Given the description of an element on the screen output the (x, y) to click on. 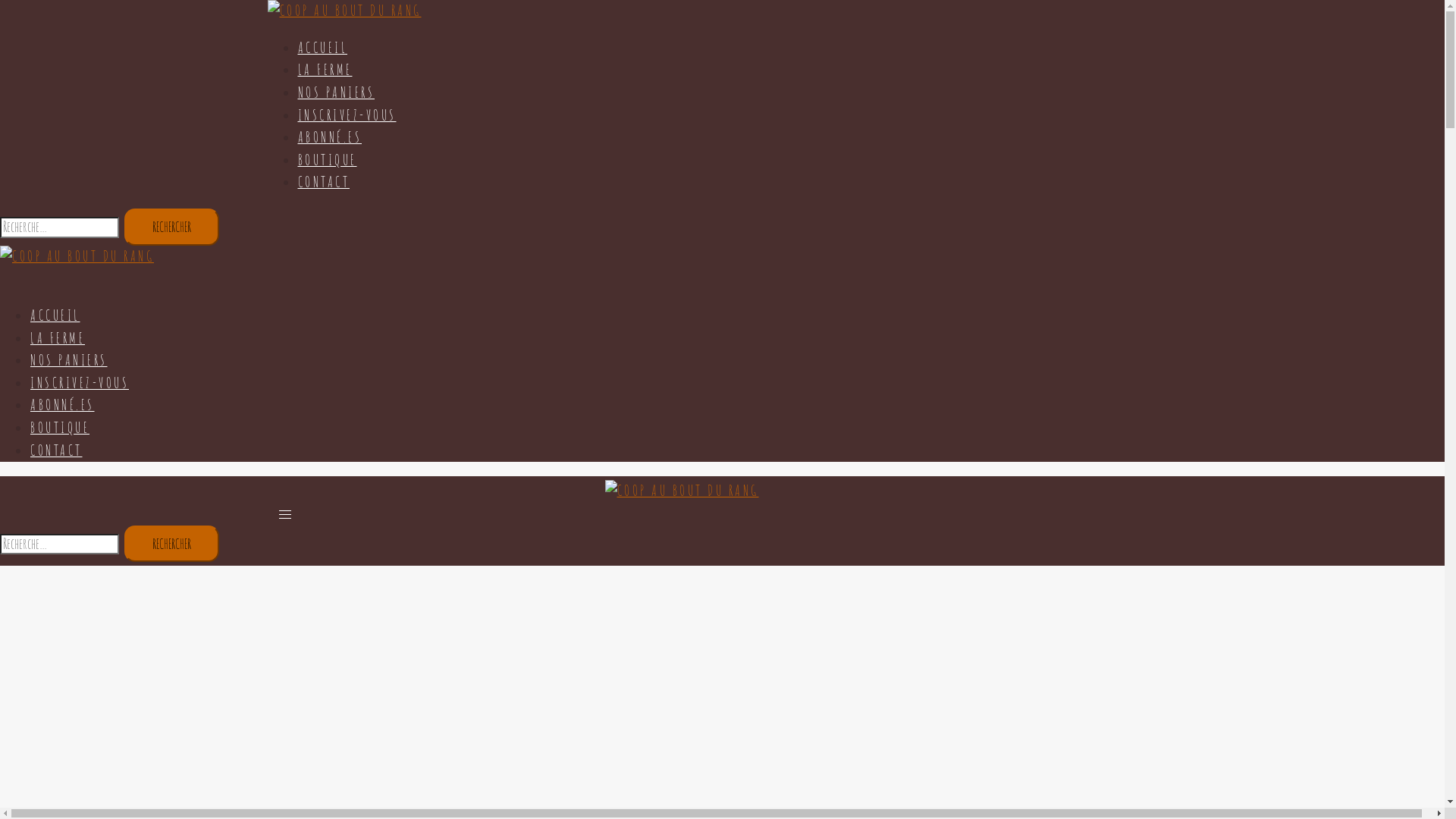
NOS PANIERS Element type: text (335, 92)
BOUTIQUE Element type: text (326, 159)
CLOSE MENU Element type: text (6, 278)
TOGGLE MENU Element type: text (285, 513)
ACCUEIL Element type: text (55, 315)
LA FERME Element type: text (57, 337)
Rechercher Element type: text (171, 543)
BOUTIQUE Element type: text (59, 427)
CONTACT Element type: text (323, 181)
INSCRIVEZ-VOUS Element type: text (346, 115)
LA FERME Element type: text (324, 69)
Coop Au bout du rang Element type: hover (682, 490)
CONTACT Element type: text (56, 450)
Rechercher Element type: text (171, 226)
INSCRIVEZ-VOUS Element type: text (79, 382)
Coop Au bout du rang Element type: hover (343, 10)
ACCUEIL Element type: text (322, 47)
NOS PANIERS Element type: text (68, 359)
Coop Au bout du rang Element type: hover (76, 256)
